Given the description of an element on the screen output the (x, y) to click on. 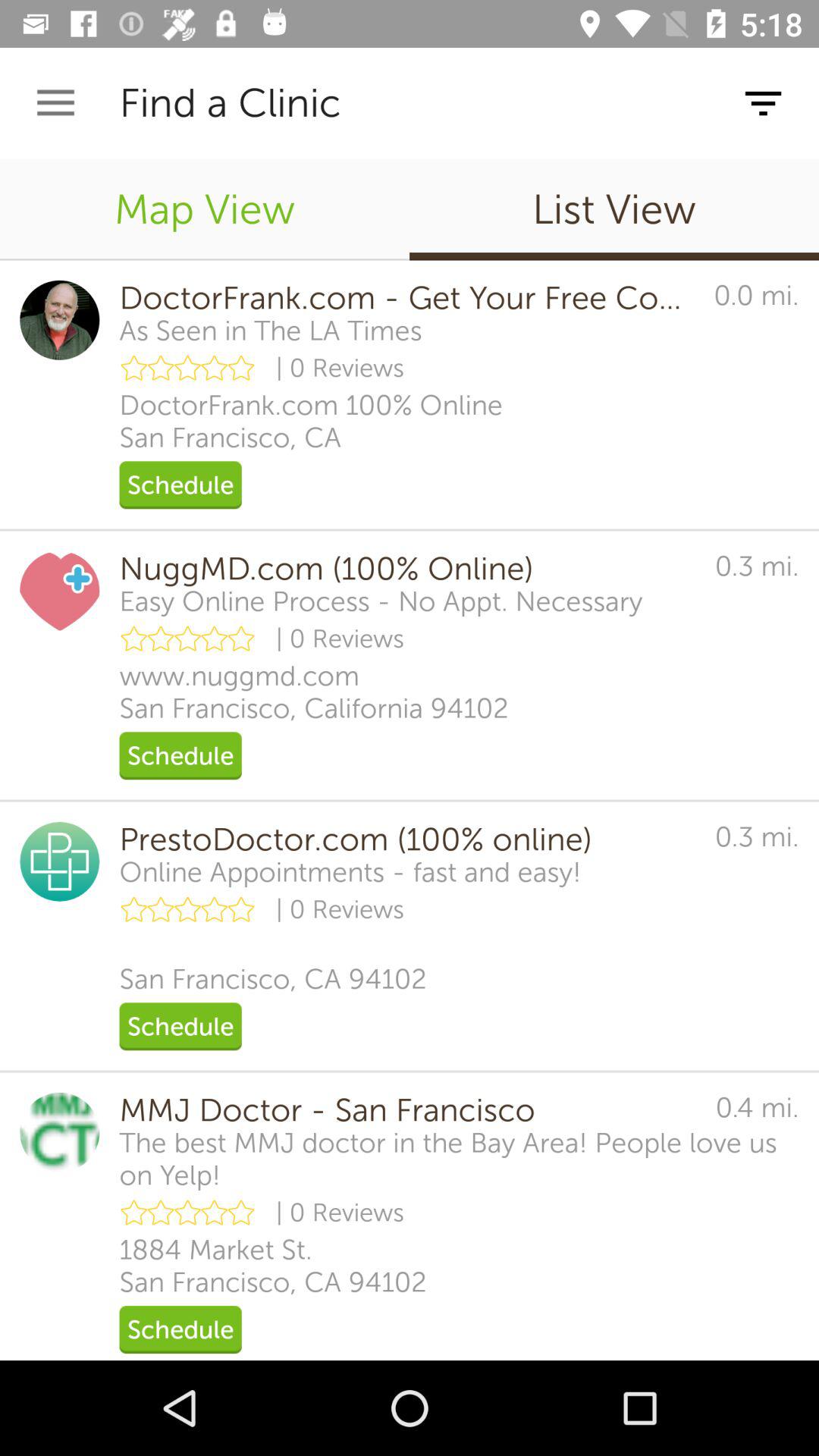
turn off the item above online appointments fast icon (407, 839)
